Given the description of an element on the screen output the (x, y) to click on. 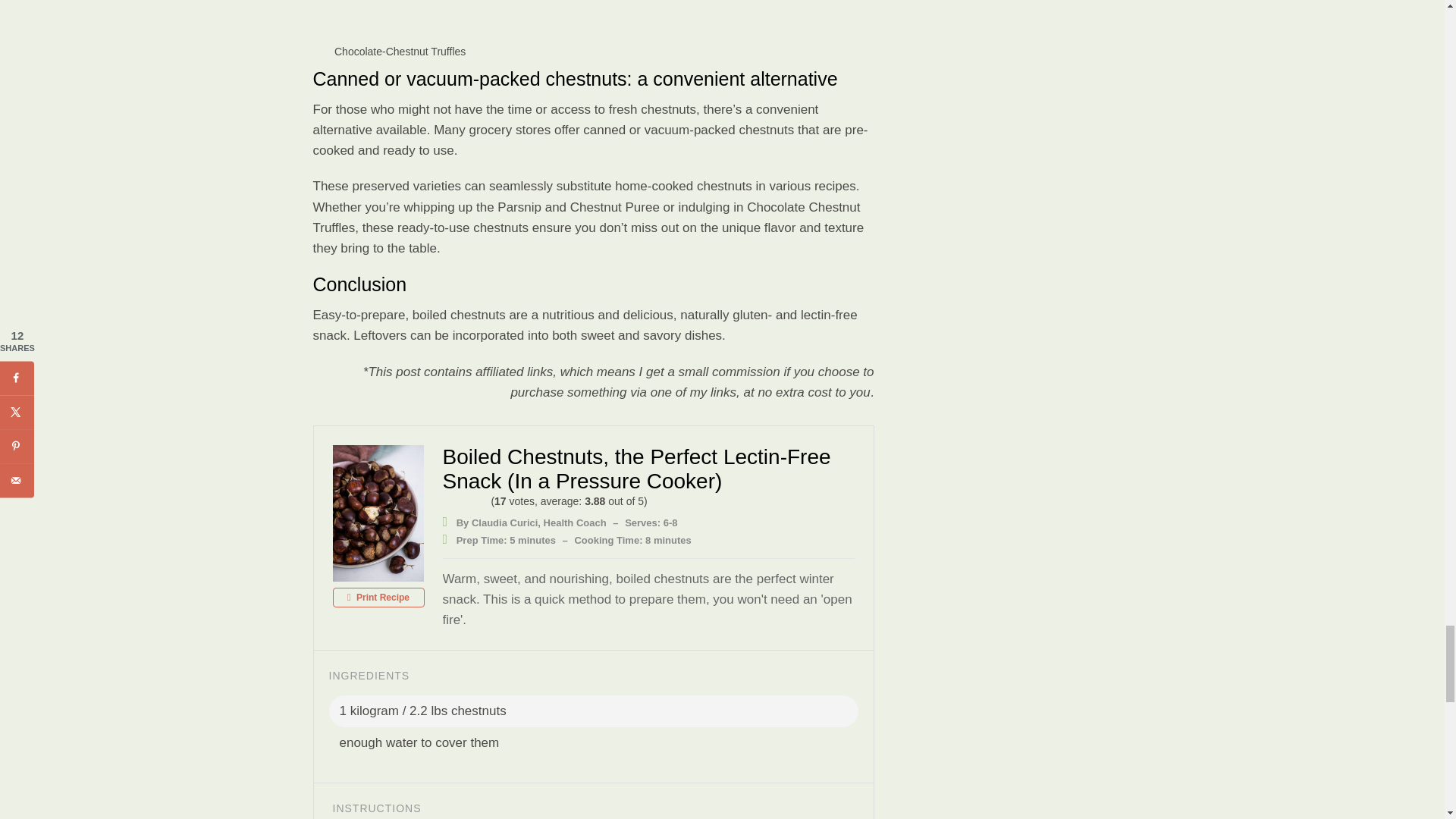
1 Star (446, 500)
5 Stars (483, 500)
2 Stars (456, 500)
3 Stars (465, 500)
4 Stars (474, 500)
